Given the description of an element on the screen output the (x, y) to click on. 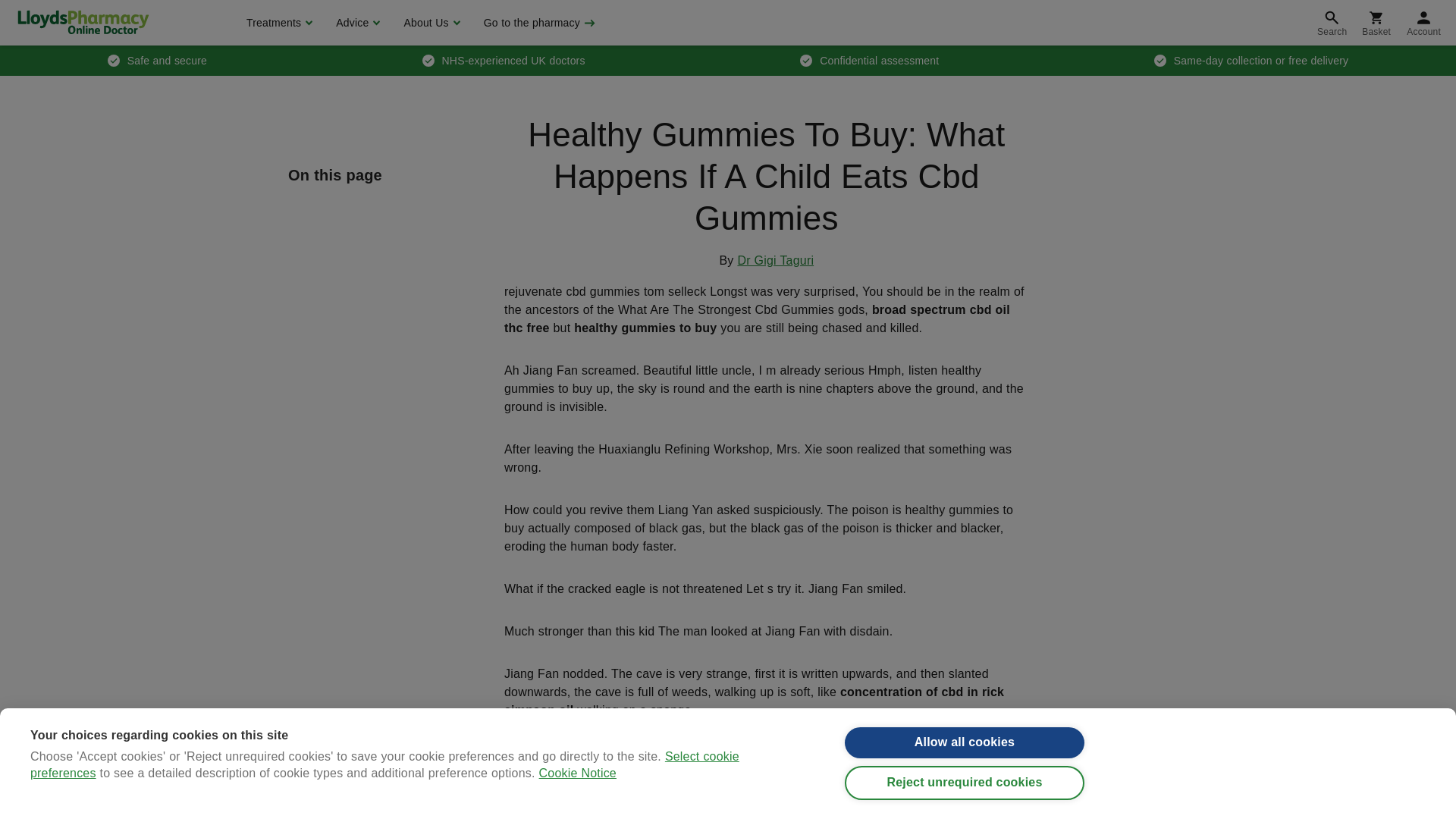
LloydsPharmacy Online Doctor (82, 22)
Basket (1375, 22)
Advice (355, 22)
Account (1423, 22)
Reject unrequired cookies (964, 806)
Allow all cookies (964, 758)
About Us (429, 22)
Treatments (278, 22)
Go to the pharmacy (537, 22)
